Given the description of an element on the screen output the (x, y) to click on. 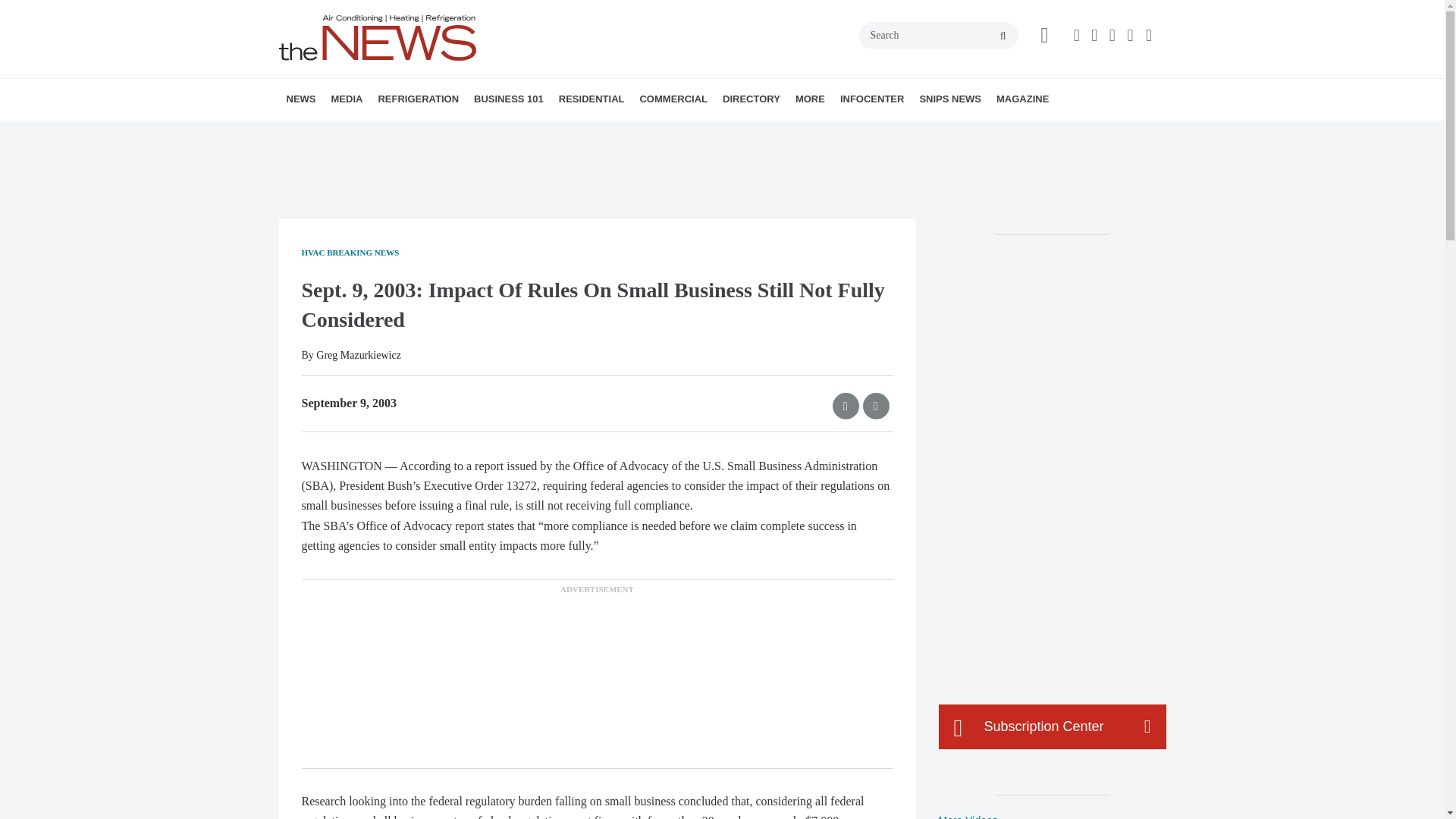
AHR EXPO 2024 VIDEOS (424, 132)
Search (938, 35)
PODCASTS (430, 132)
MEDIA (346, 98)
REFRIGERANTS (464, 132)
VIDEOS (417, 132)
EBOOKS (442, 132)
BUSINESS 101 (508, 98)
HVAC DATA (391, 132)
WEBINARS (436, 132)
